Given the description of an element on the screen output the (x, y) to click on. 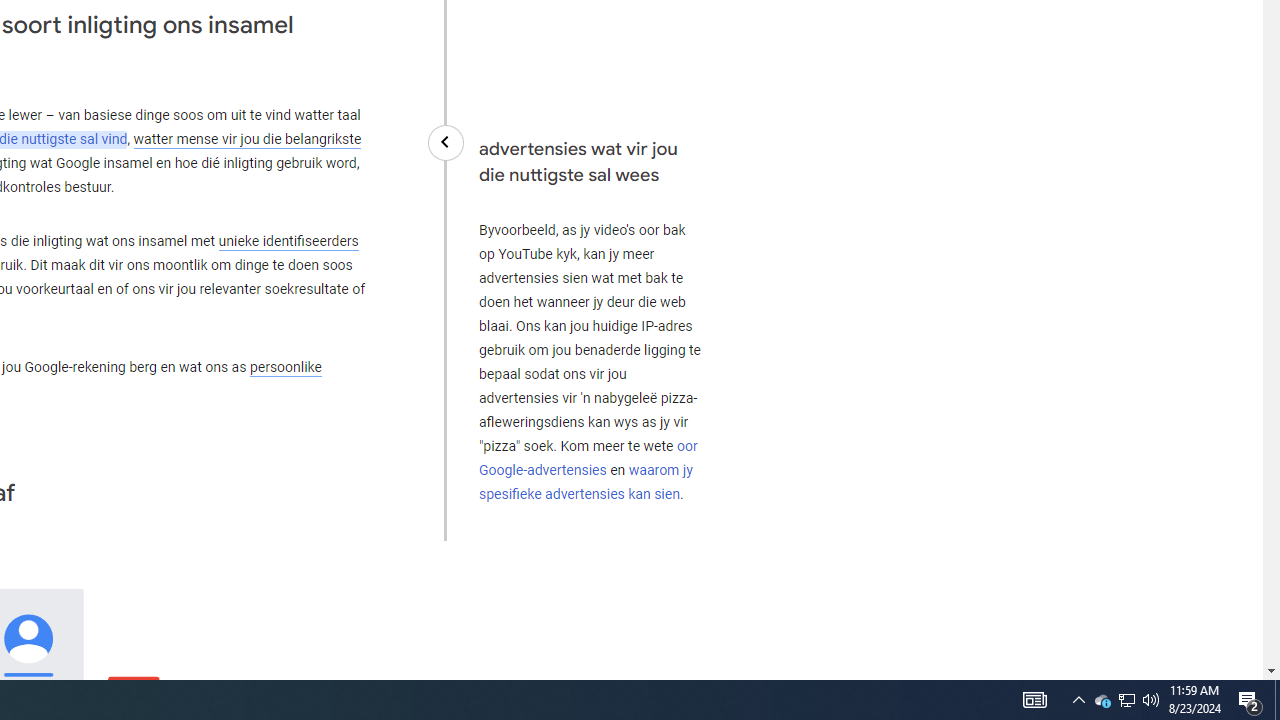
waarom jy spesifieke advertensies kan sien (585, 481)
unieke identifiseerders (287, 241)
oor Google-advertensies (587, 457)
